Given the description of an element on the screen output the (x, y) to click on. 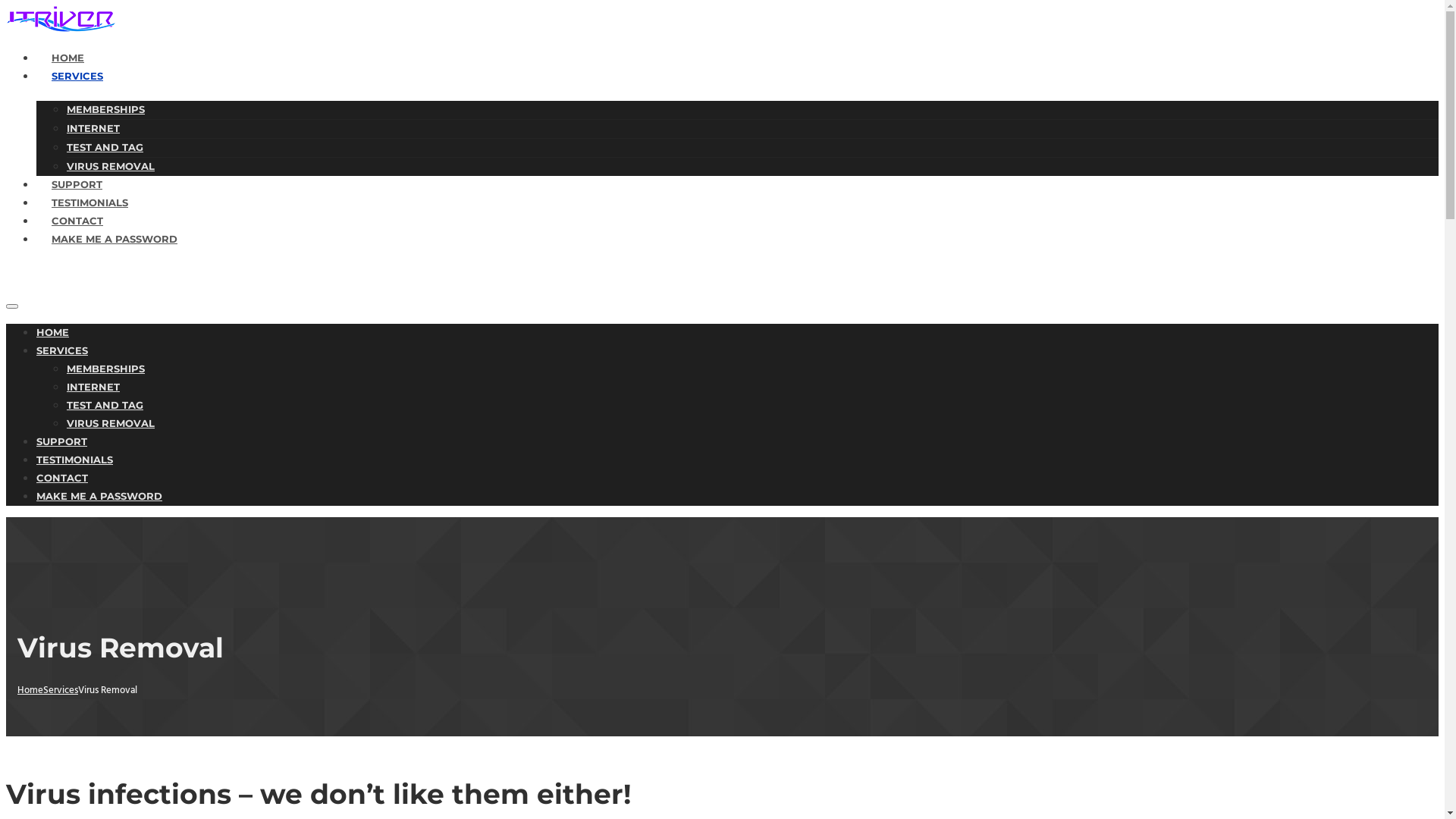
MAKE ME A PASSWORD Element type: text (114, 236)
TEST AND TAG Element type: text (104, 404)
MAKE ME A PASSWORD Element type: text (99, 495)
Home Element type: text (30, 690)
TESTIMONIALS Element type: text (74, 459)
CONTACT Element type: text (77, 218)
SERVICES Element type: text (77, 73)
Services Element type: text (60, 690)
SERVICES Element type: text (61, 350)
INTERNET Element type: text (92, 128)
TESTIMONIALS Element type: text (89, 200)
MEMBERSHIPS Element type: text (105, 109)
CONTACT Element type: text (61, 477)
MEMBERSHIPS Element type: text (105, 368)
VIRUS REMOVAL Element type: text (110, 423)
TEST AND TAG Element type: text (104, 147)
HOME Element type: text (67, 55)
HOME Element type: text (52, 332)
SUPPORT Element type: text (61, 441)
INTERNET Element type: text (92, 386)
VIRUS REMOVAL Element type: text (110, 166)
SUPPORT Element type: text (76, 182)
